Given the description of an element on the screen output the (x, y) to click on. 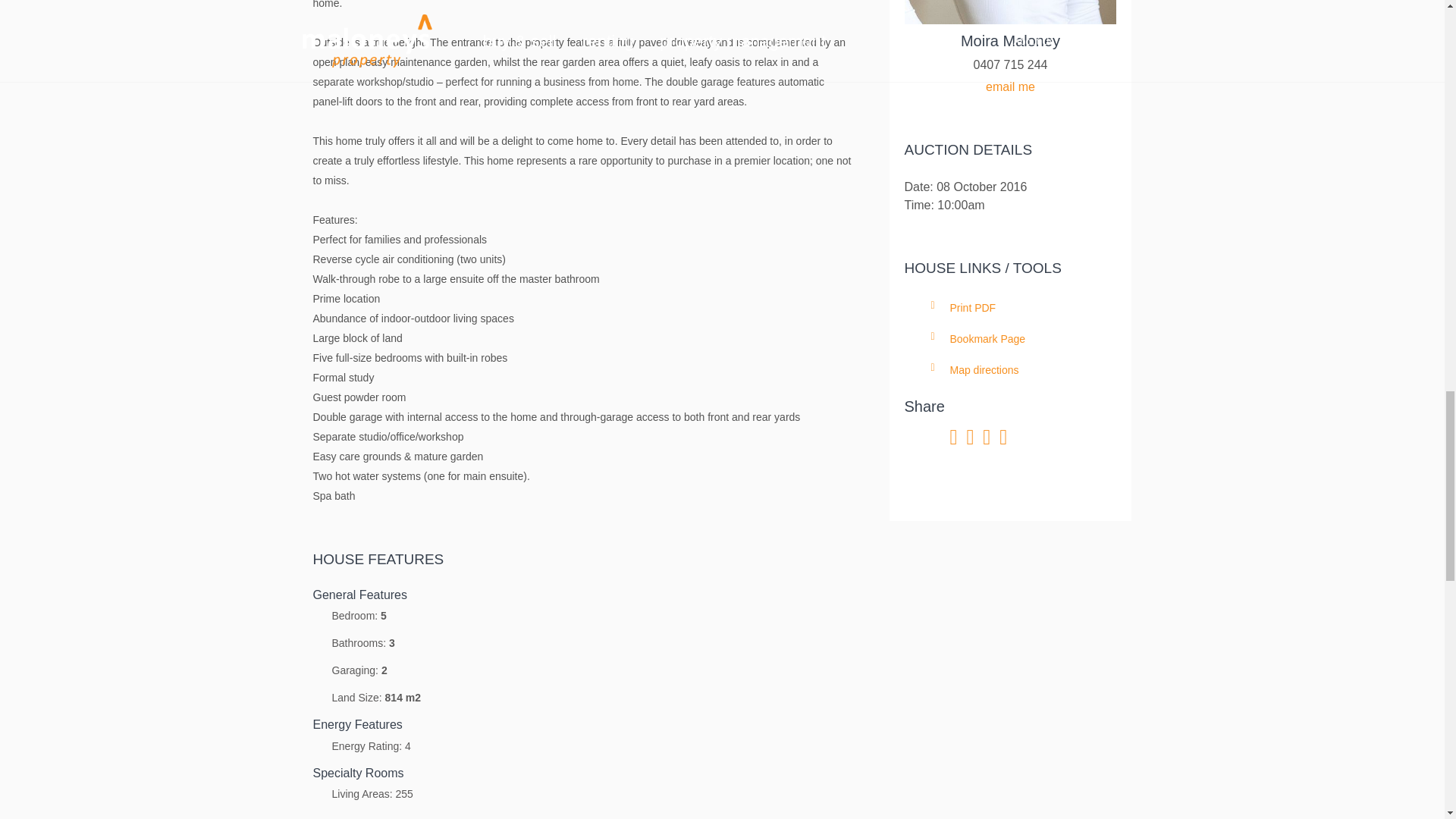
Contact the agent (1010, 86)
